Given the description of an element on the screen output the (x, y) to click on. 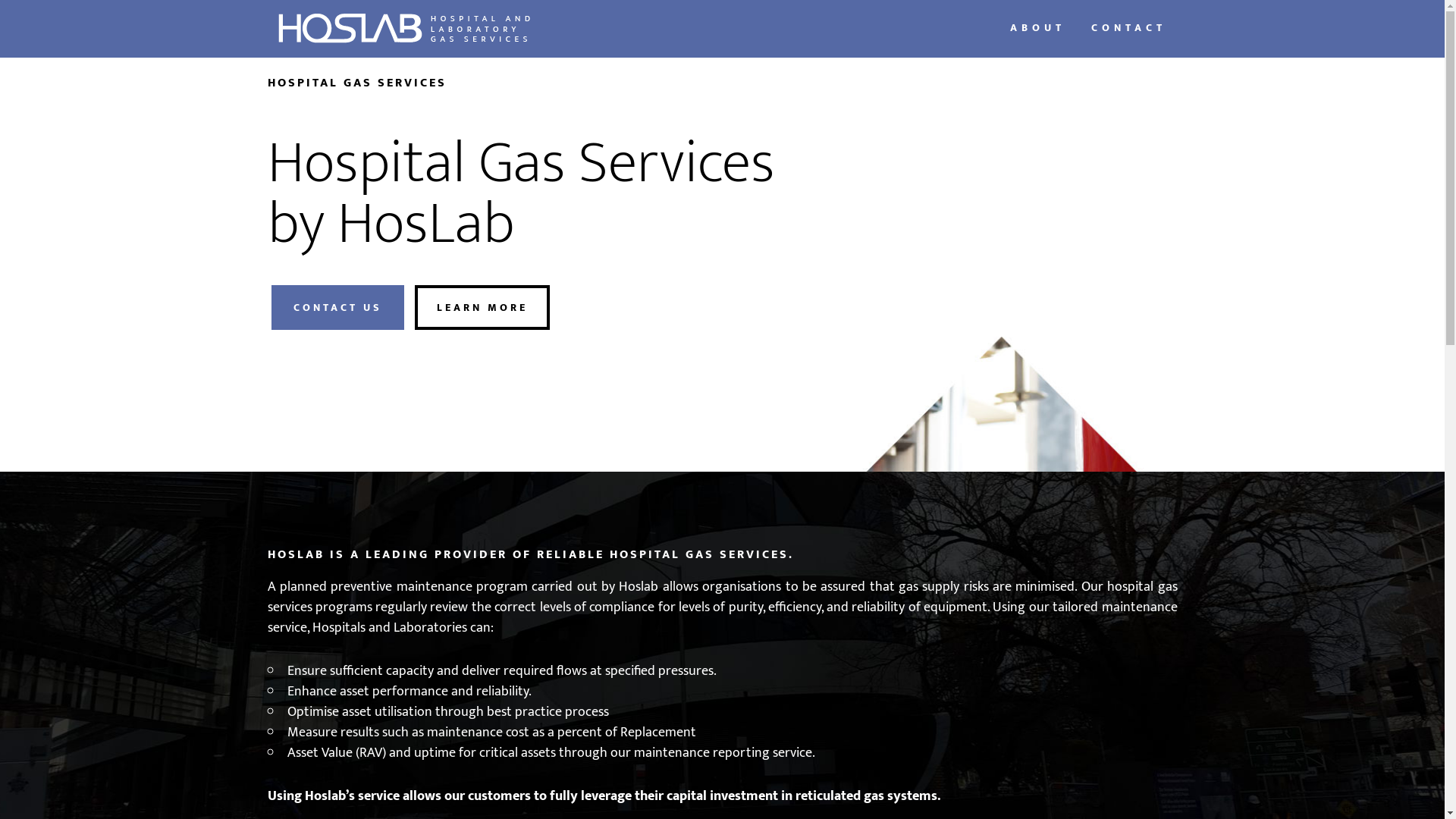
LEARN MORE Element type: text (481, 307)
ABOUT Element type: text (1036, 28)
CONTACT Element type: text (1128, 28)
CONTACT US Element type: text (337, 307)
HOSPITAL GAS SERVICES Element type: text (402, 28)
